Given the description of an element on the screen output the (x, y) to click on. 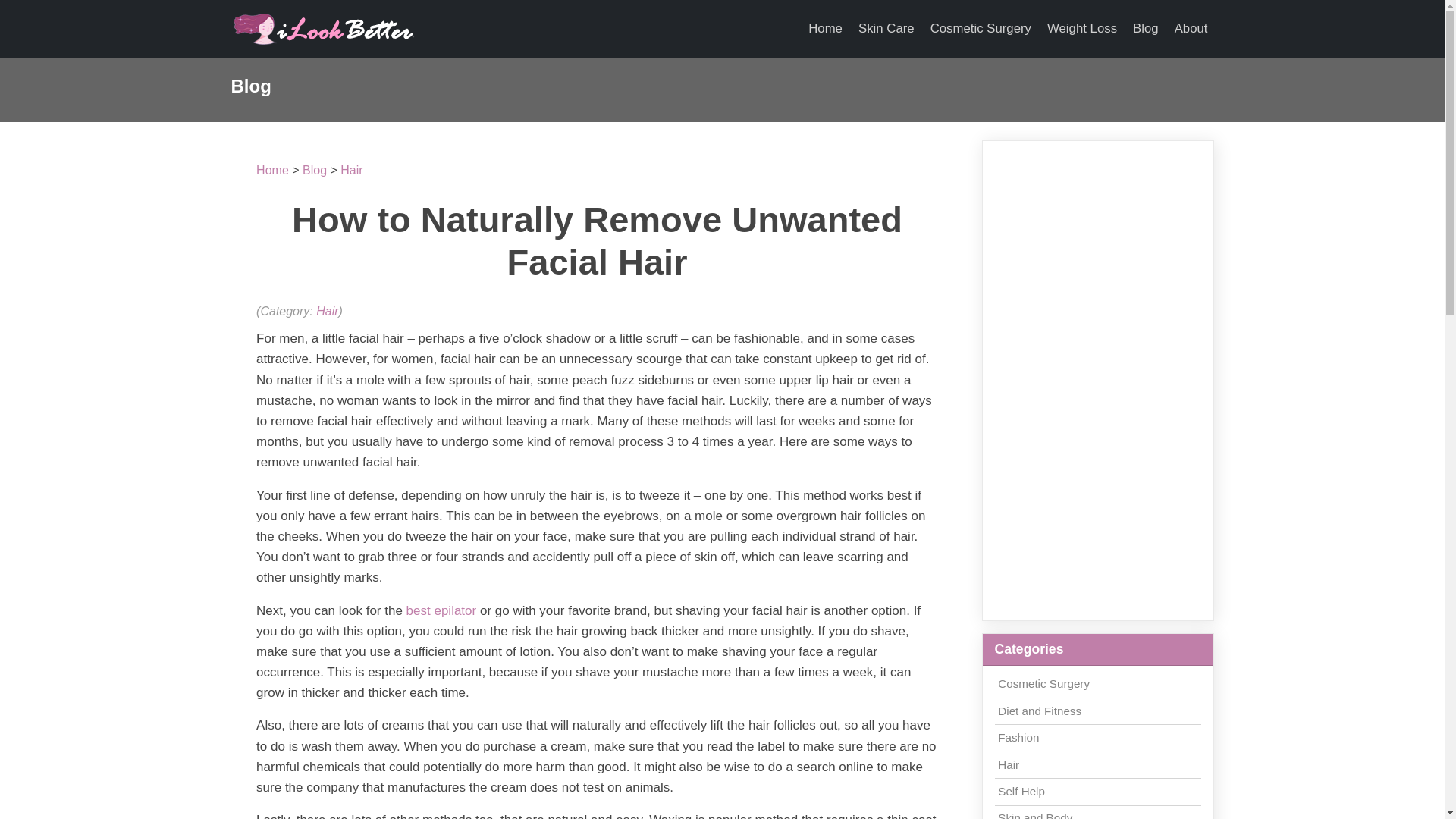
Diet and Fitness (1039, 710)
Skin and Body (1034, 815)
Self Help (1021, 790)
Blog (1145, 29)
best epilator (441, 610)
About (1191, 29)
Hair (1008, 764)
Blog (314, 169)
Fashion (1018, 737)
Cosmetic Surgery (1043, 683)
